Given the description of an element on the screen output the (x, y) to click on. 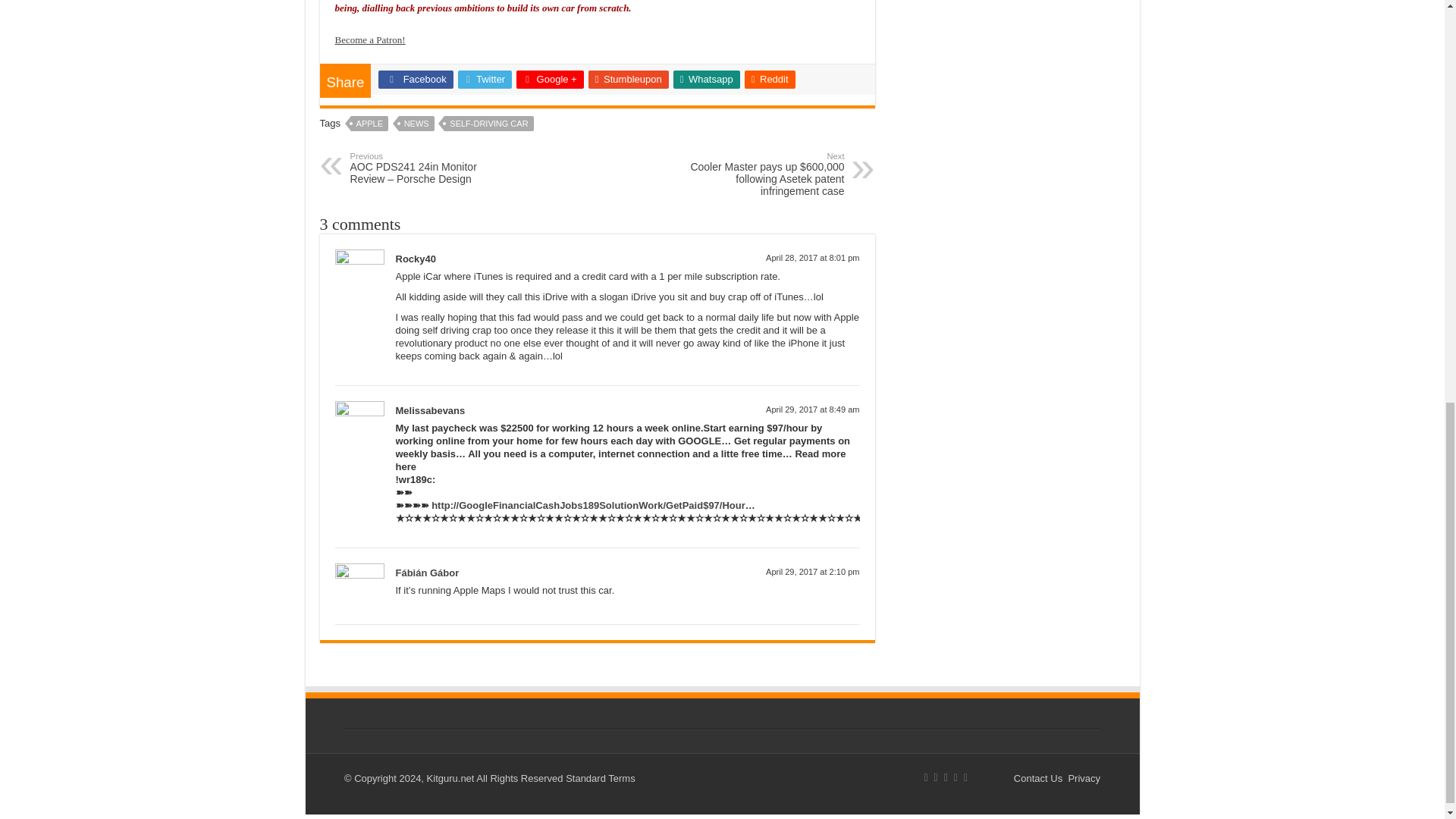
Twitter (485, 79)
Become a Patron! (370, 39)
Stumbleupon (628, 79)
Reddit (769, 79)
Facebook (415, 79)
Whatsapp (705, 79)
APPLE (369, 123)
